Given the description of an element on the screen output the (x, y) to click on. 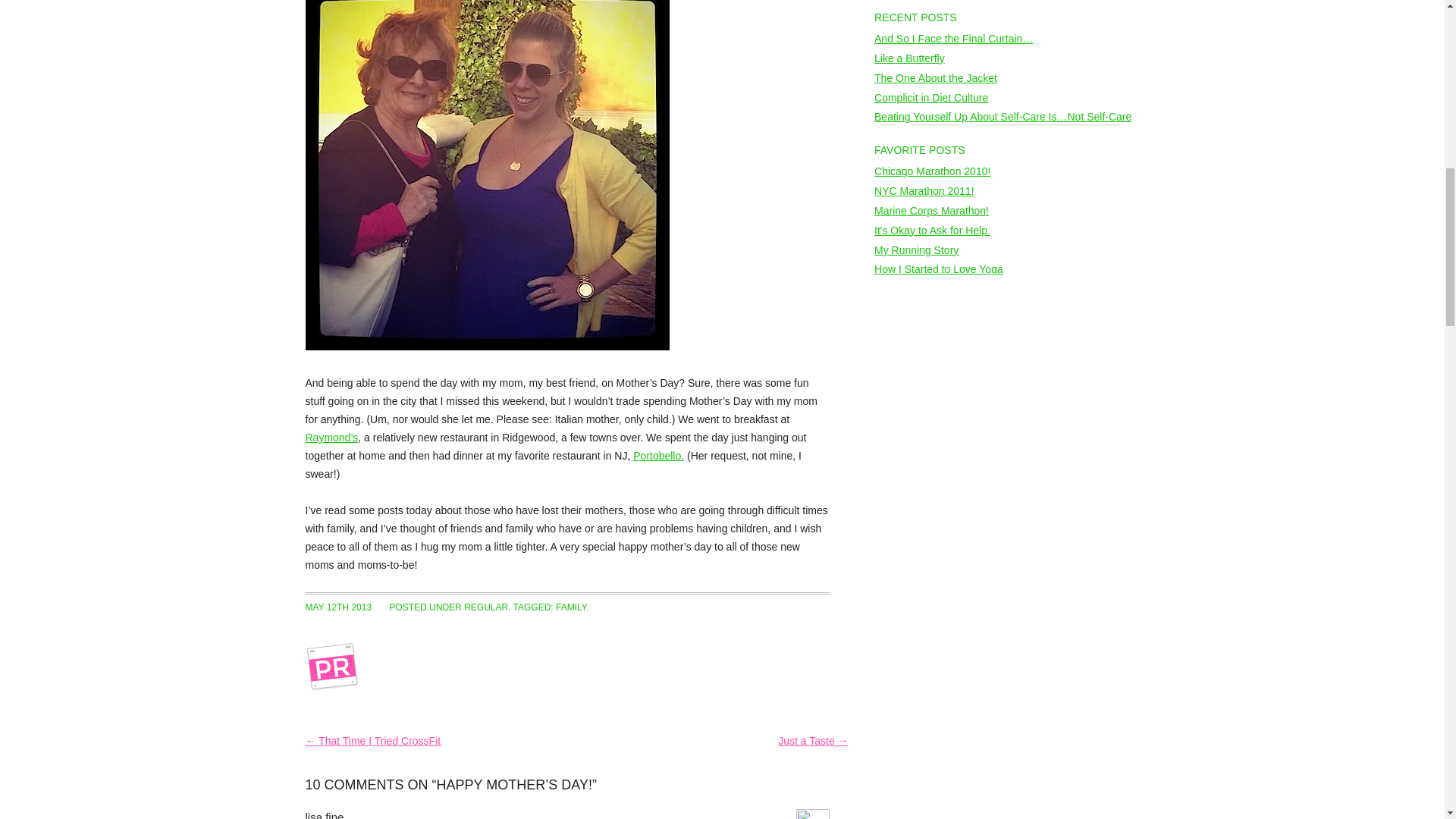
Portobello. (658, 455)
REGULAR (486, 606)
lisa fine (323, 814)
FAMILY (571, 606)
